Given the description of an element on the screen output the (x, y) to click on. 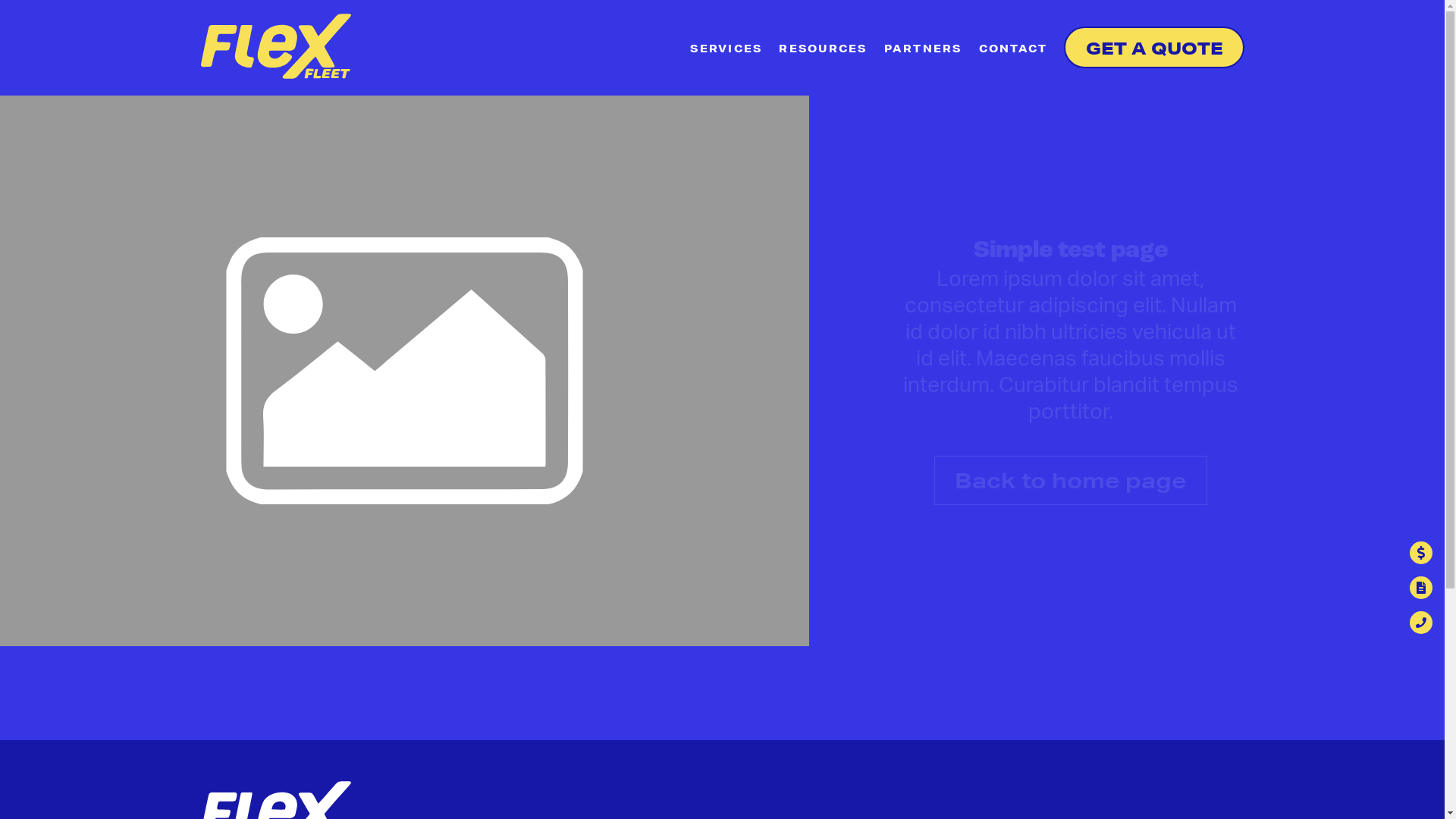
RESOURCES Element type: text (822, 49)
PARTNERS Element type: text (923, 49)
Back to home page Element type: text (1070, 480)
GET A QUOTE Element type: text (1153, 47)
CONTACT Element type: text (1013, 49)
SERVICES Element type: text (726, 49)
